Given the description of an element on the screen output the (x, y) to click on. 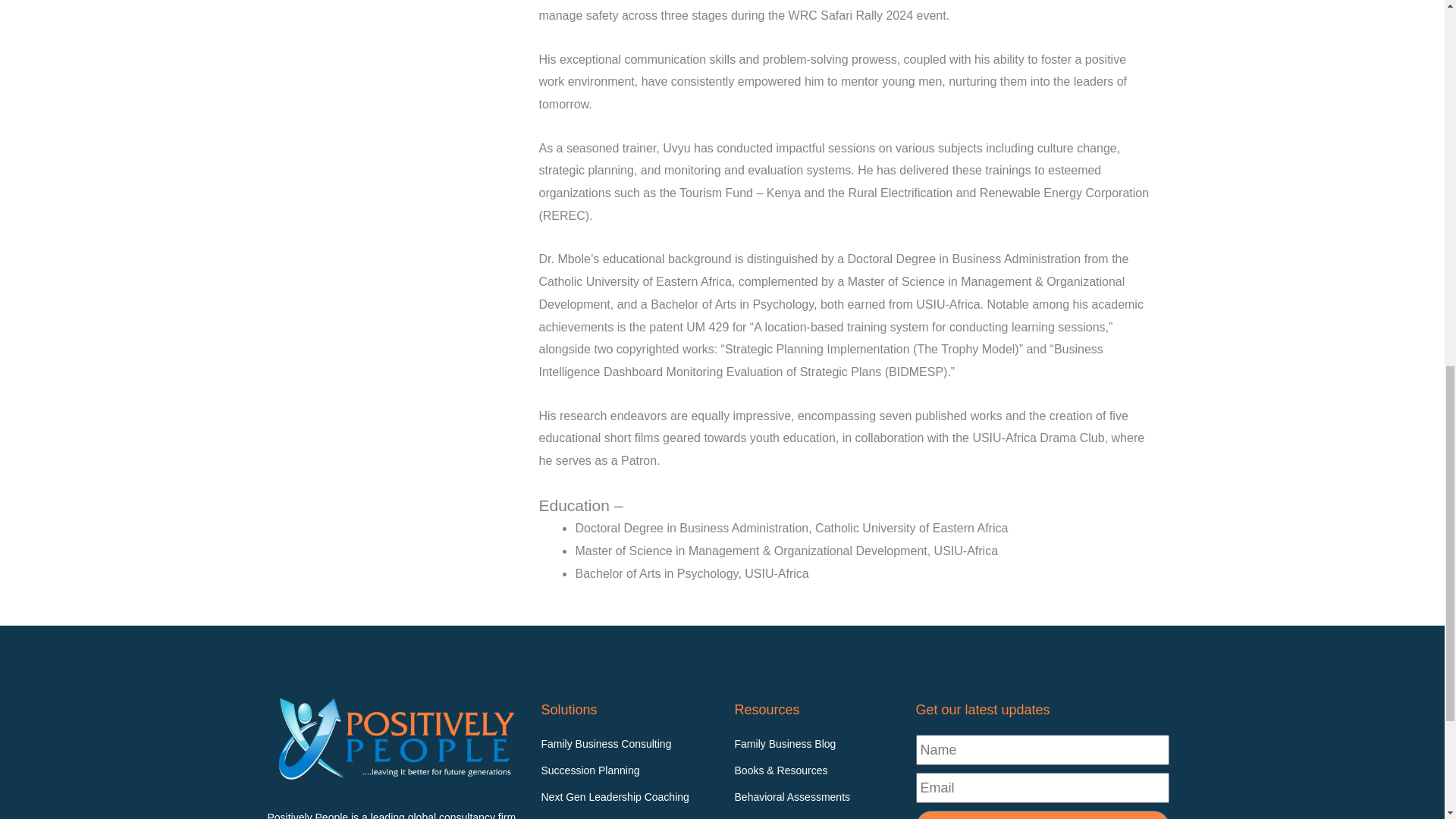
Next Gen Leadership Coaching (629, 797)
Family Business Consulting (629, 744)
Succession Planning (629, 771)
